Given the description of an element on the screen output the (x, y) to click on. 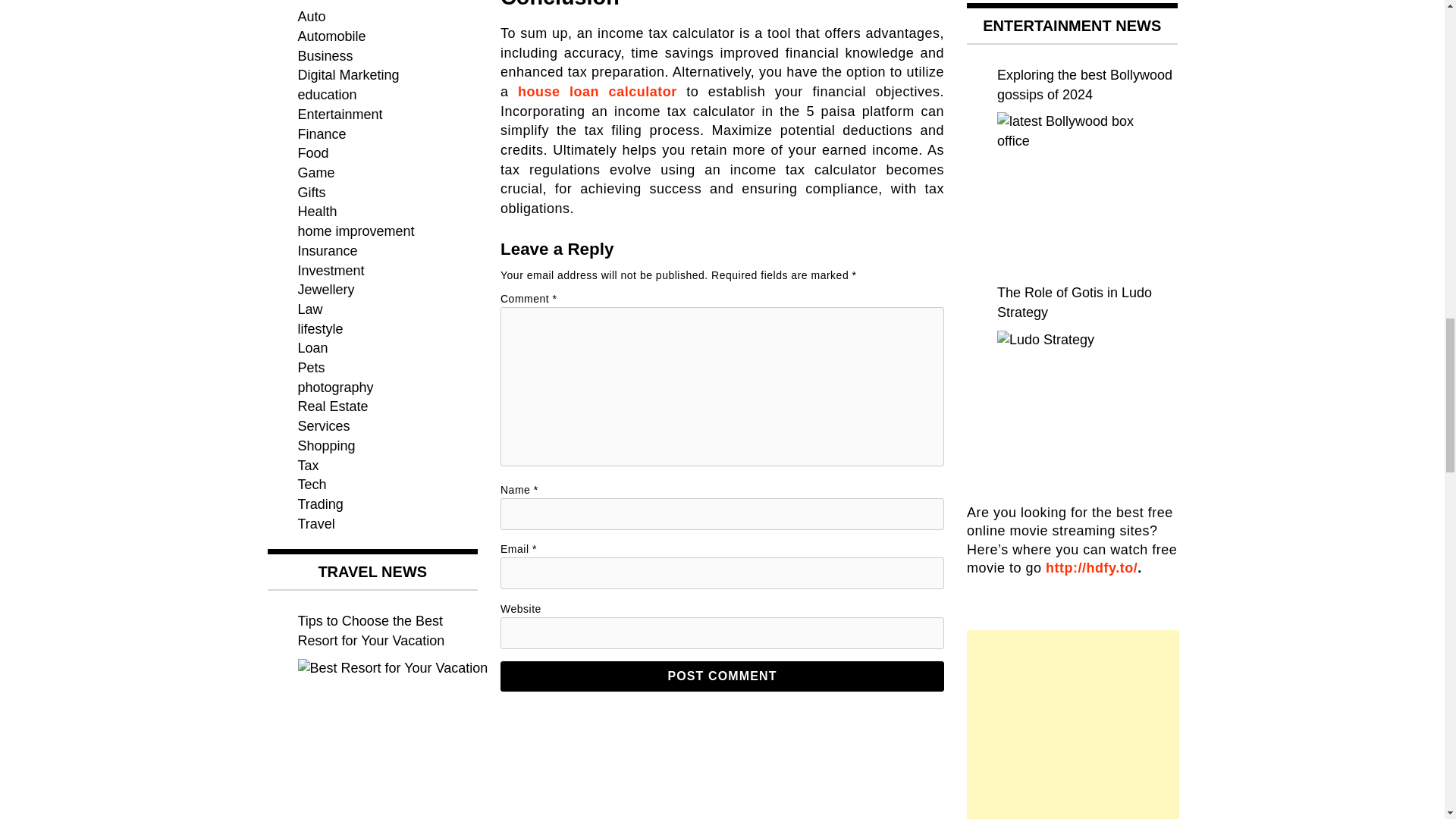
Business (324, 55)
Post Comment (721, 675)
Gifts (310, 192)
Digital Marketing (347, 74)
Finance (321, 133)
education (326, 94)
Entertainment (339, 114)
Food (313, 152)
Auto (310, 16)
Game (315, 172)
Automobile (331, 36)
The Role of Gotis in Ludo Strategy (1072, 406)
Post Comment (721, 675)
Tips to Choose the Best Resort for Your Vacation (387, 739)
house loan calculator (597, 91)
